Given the description of an element on the screen output the (x, y) to click on. 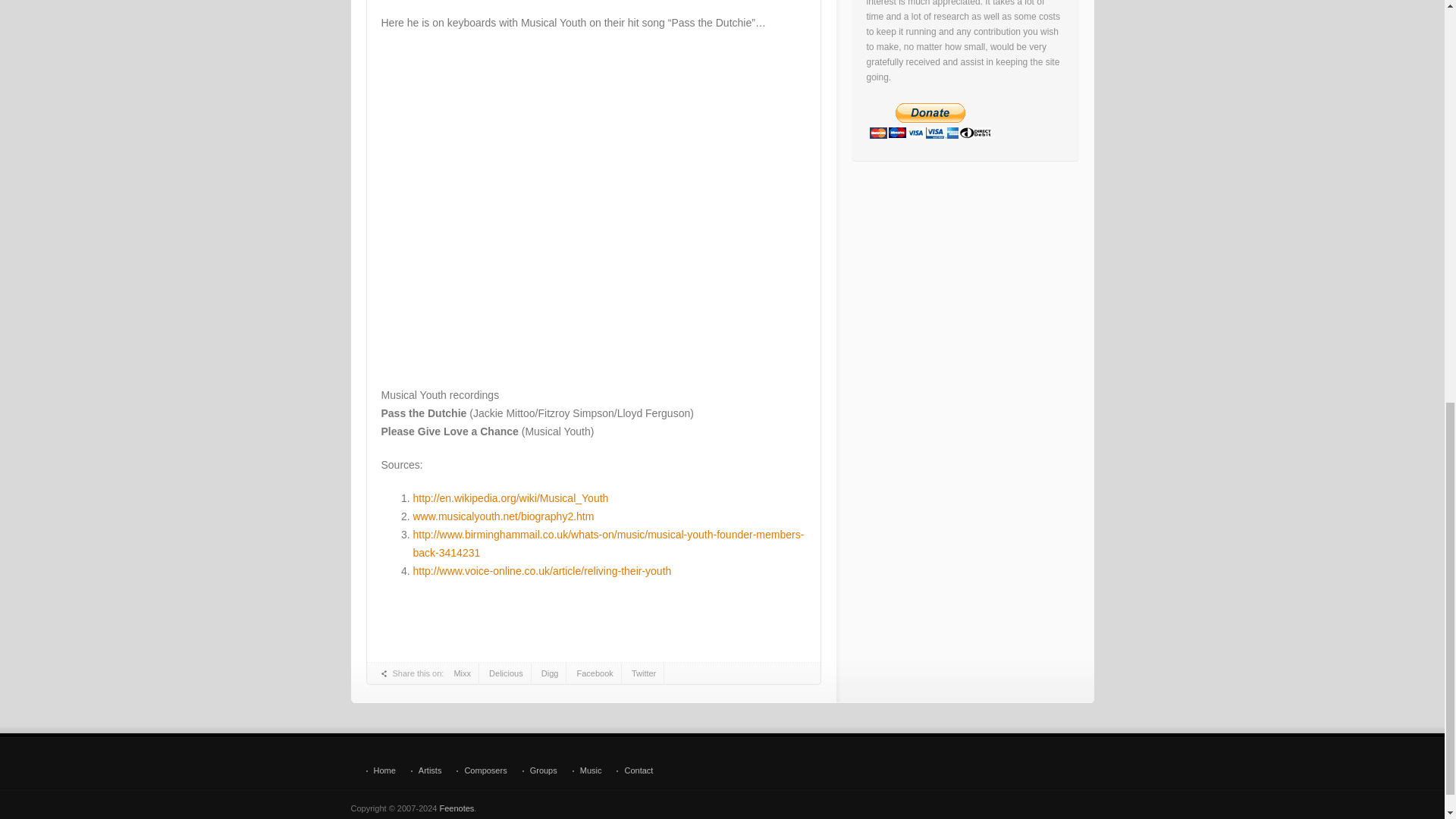
Digg this entry (550, 672)
Twitter (643, 672)
Facebook (595, 672)
Contact (633, 770)
Groups (539, 770)
Share this entry on Twitter (643, 672)
Home (379, 770)
Digg (550, 672)
Music (587, 770)
Composers (481, 770)
Delicious (506, 672)
Mixx (462, 672)
Artists (426, 770)
Share this entry on Facebook (595, 672)
